Given the description of an element on the screen output the (x, y) to click on. 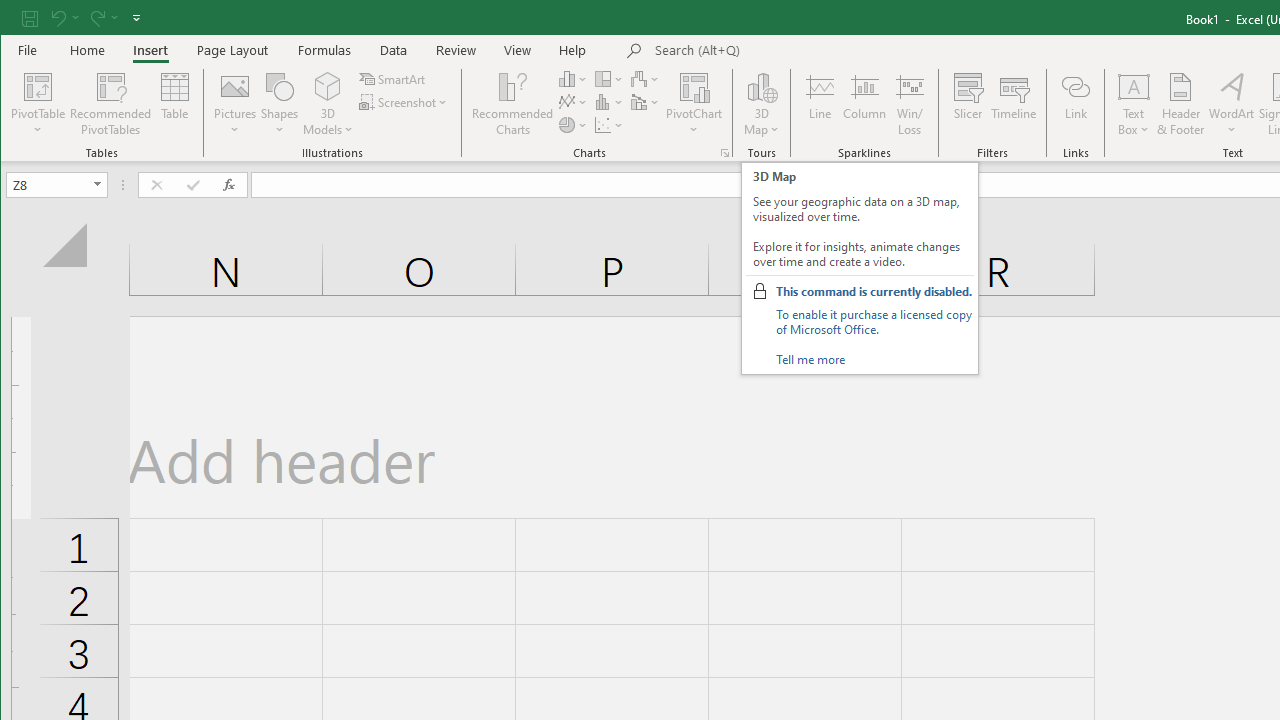
Insert Column or Bar Chart (573, 78)
Draw Horizontal Text Box (1133, 86)
Screenshot (404, 101)
PivotChart (694, 104)
Insert Pie or Doughnut Chart (573, 124)
Insert Combo Chart (646, 101)
3D Map (762, 86)
Line (819, 104)
PivotTable (37, 86)
